Given the description of an element on the screen output the (x, y) to click on. 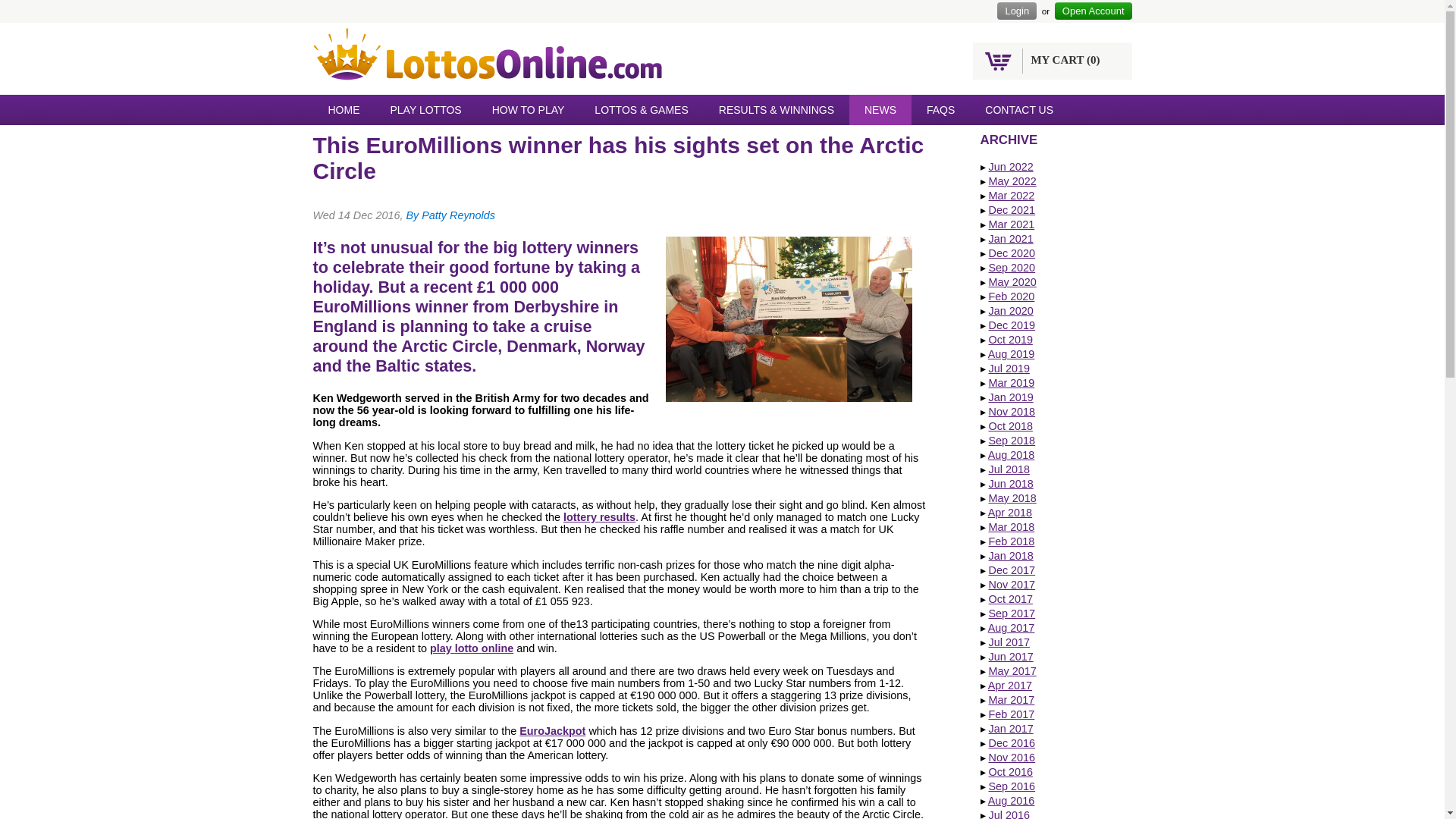
NEWS (879, 110)
lottery results (598, 517)
Aug 2019 (1011, 354)
Sep 2020 (1011, 267)
Aug 2018 (1011, 454)
Dec 2019 (1011, 325)
Mar 2021 (1011, 224)
Jan 2021 (1010, 238)
play lotto online (471, 648)
CONTACT US (1018, 110)
May 2020 (1012, 282)
Jul 2019 (1008, 368)
Open Account (1093, 10)
Jan 2019 (1010, 397)
Nov 2018 (1011, 411)
